Given the description of an element on the screen output the (x, y) to click on. 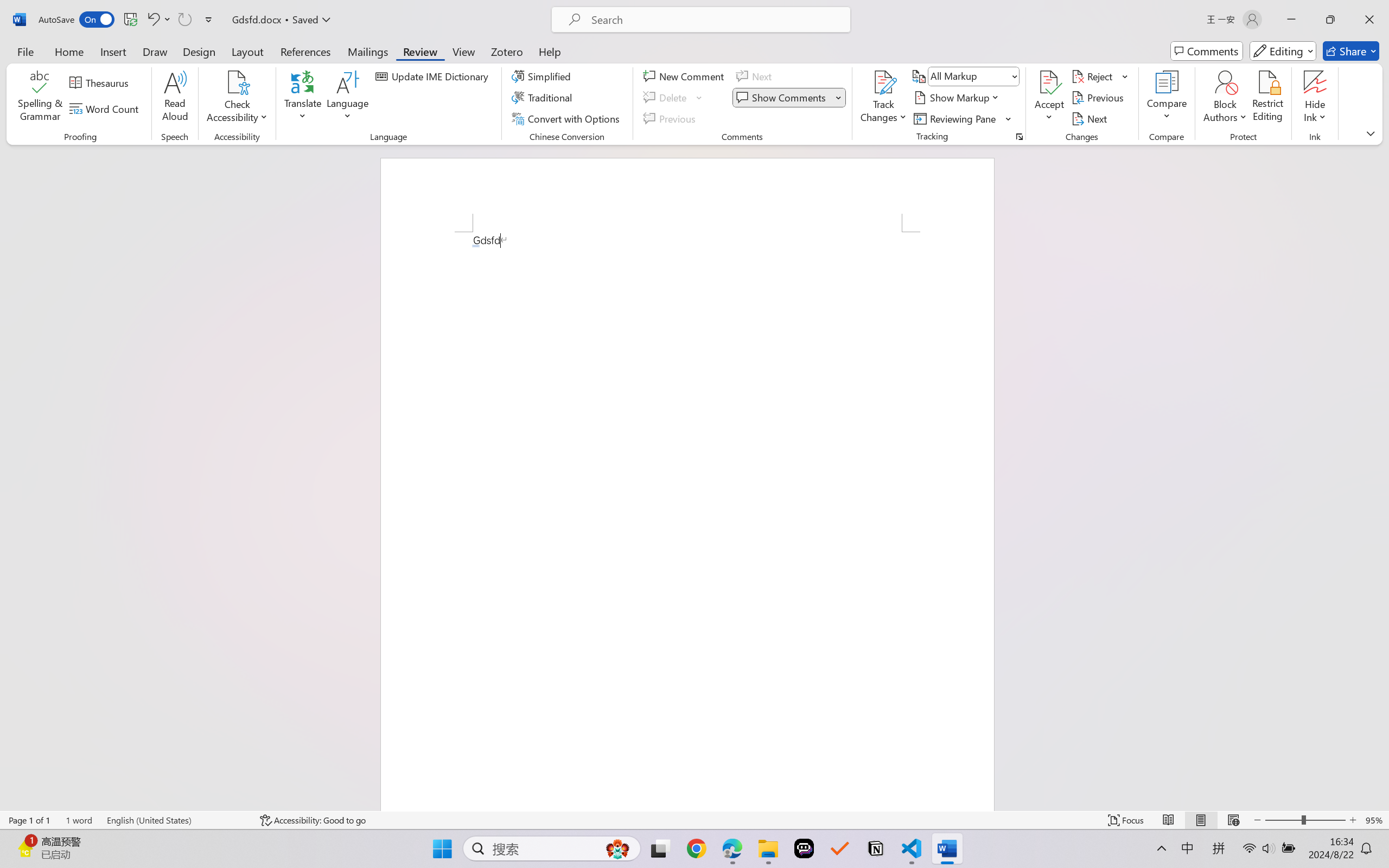
Class: NetUIScrollBar (1382, 477)
Convert with Options... (567, 118)
Previous (1099, 97)
Delete (666, 97)
Show Markup (957, 97)
